Given the description of an element on the screen output the (x, y) to click on. 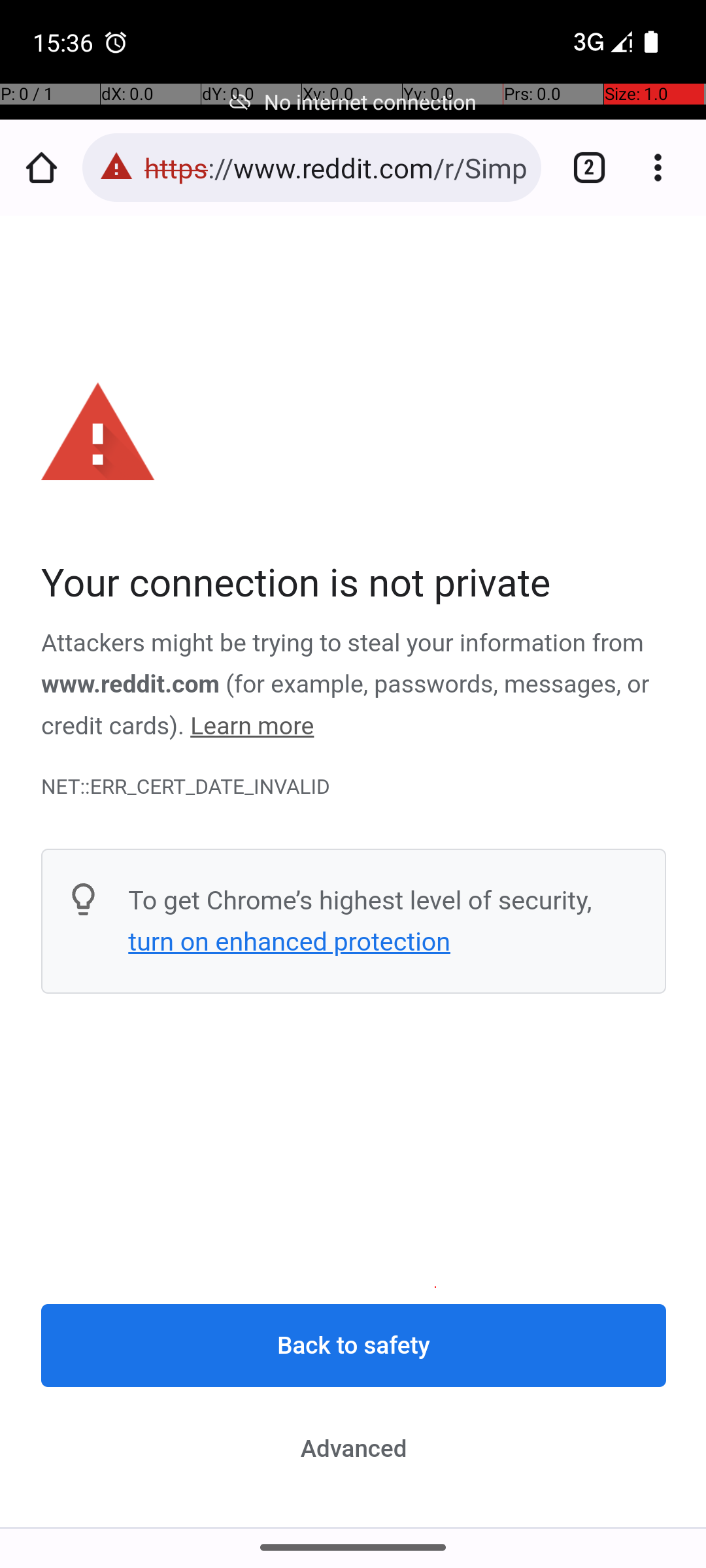
https://www.reddit.com/r/SimpleMobileTools Element type: android.widget.EditText (335, 167)
www.reddit.com Element type: android.widget.TextView (130, 684)
